Given the description of an element on the screen output the (x, y) to click on. 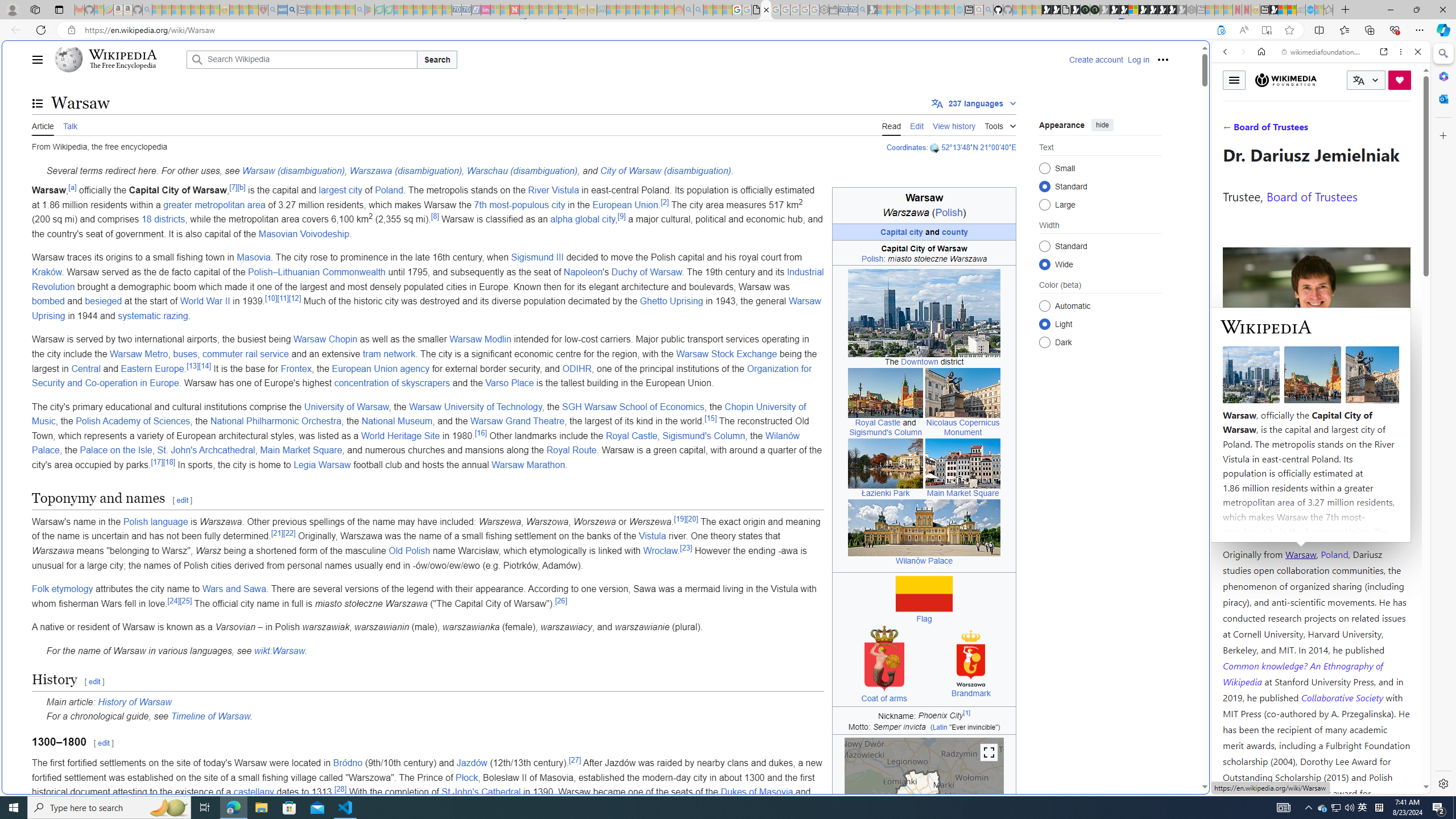
[21] (276, 533)
City of Warsaw (disambiguation) (664, 171)
Warsaw Uprising (426, 308)
[18] (169, 461)
